Given the description of an element on the screen output the (x, y) to click on. 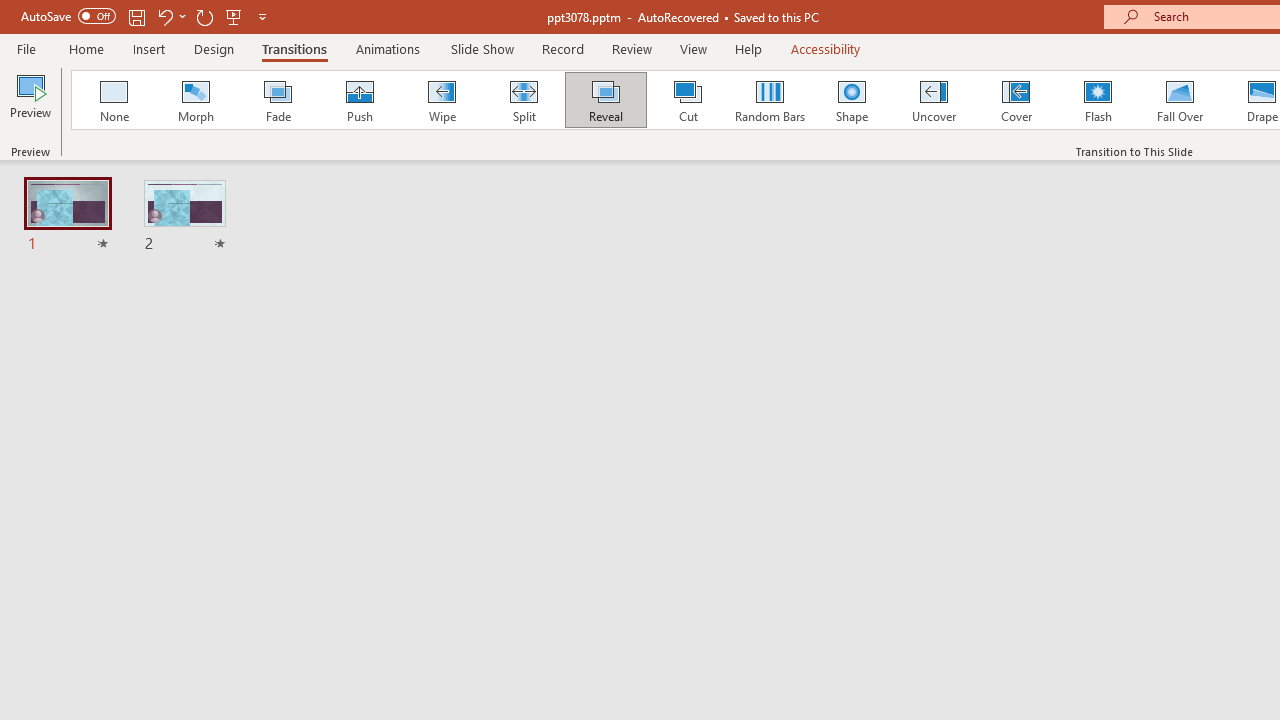
Reveal (605, 100)
Fall Over (1180, 100)
Wipe (441, 100)
